Given the description of an element on the screen output the (x, y) to click on. 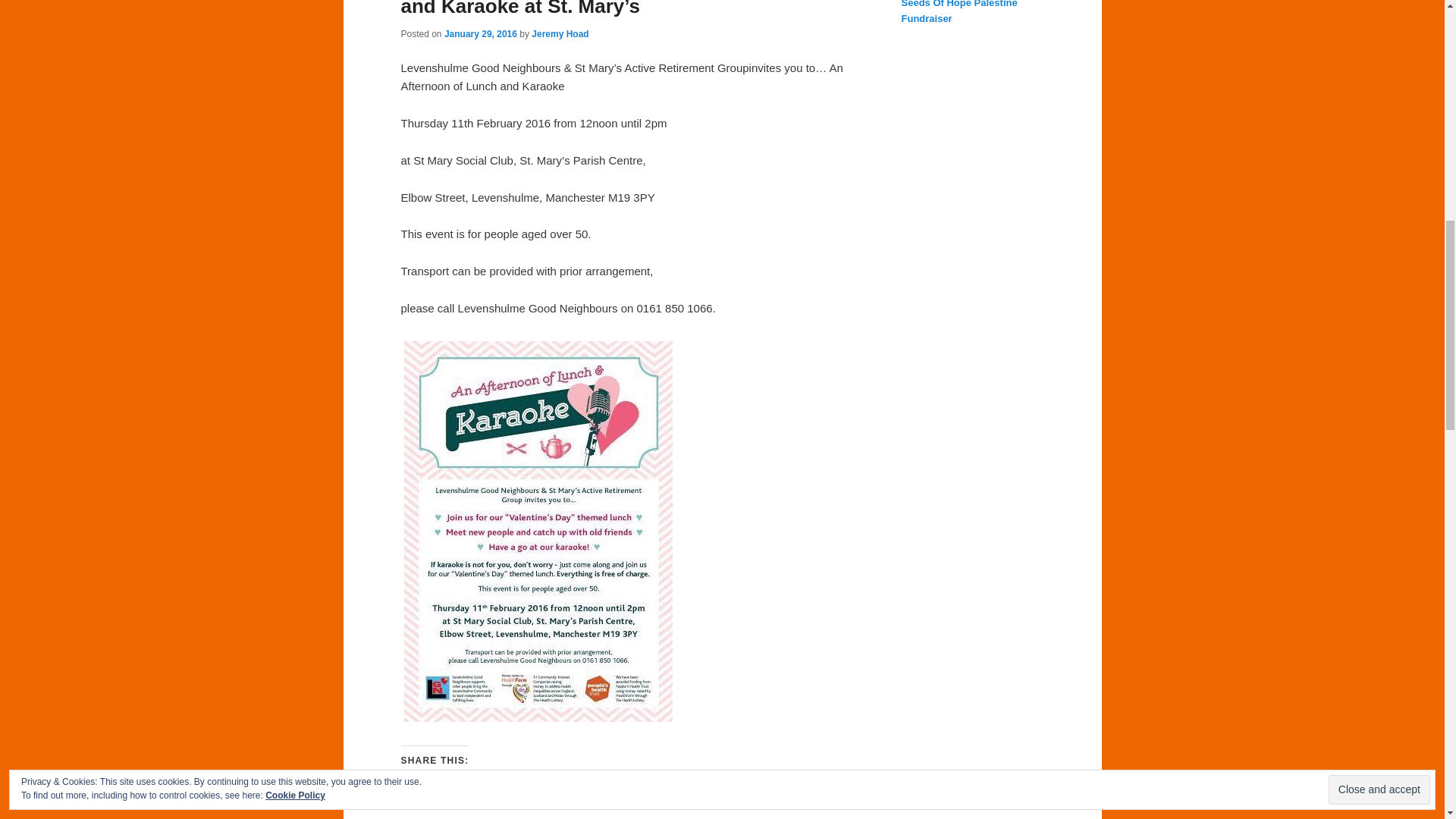
Click to share on LinkedIn (503, 787)
Click to share on Facebook (412, 787)
Click to share on Twitter (442, 787)
Click to share on Tumblr (533, 787)
Click to share on Pinterest (472, 787)
